Given the description of an element on the screen output the (x, y) to click on. 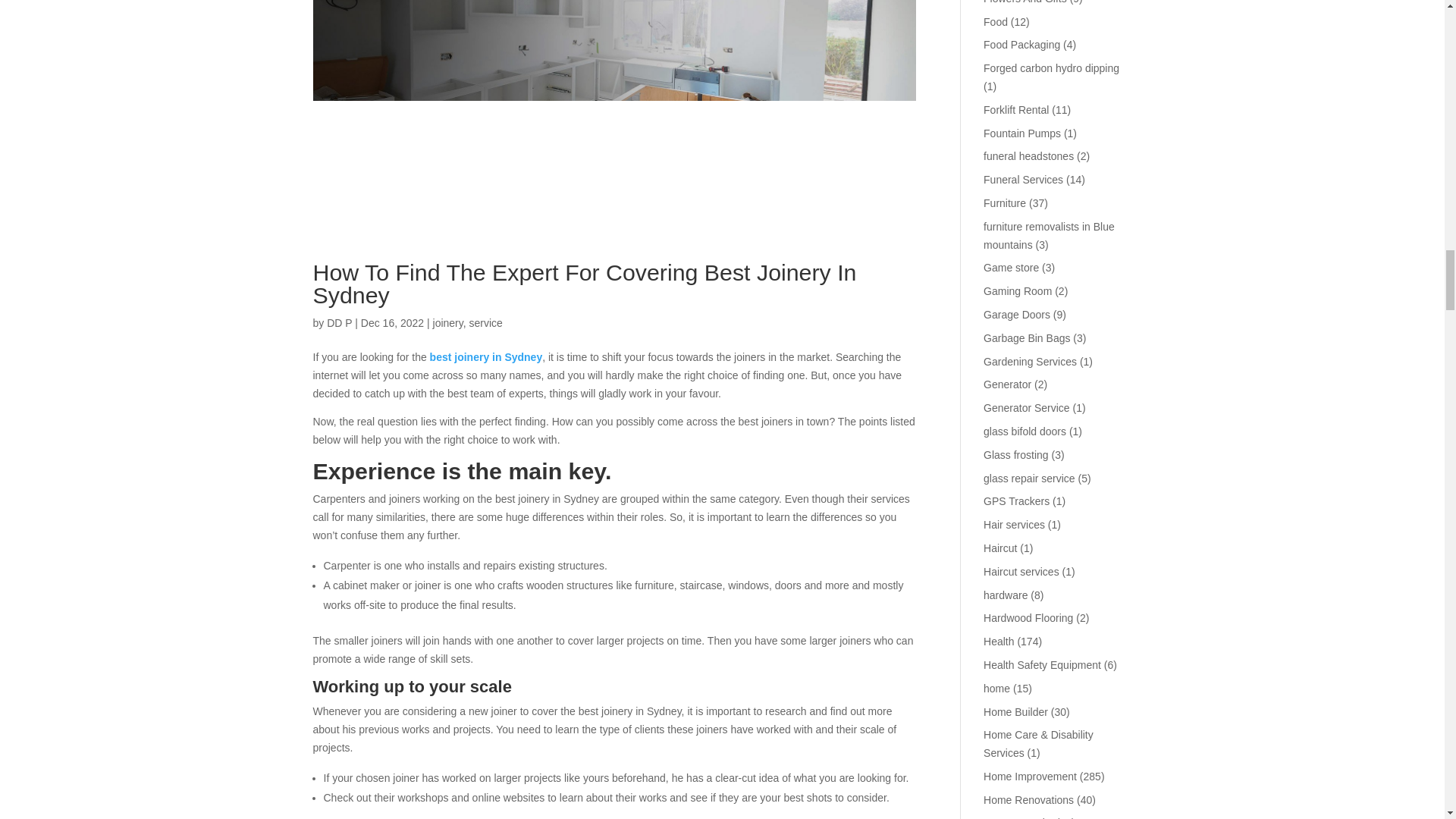
best joinery in Sydney (486, 357)
Posts by DD P (339, 322)
service (485, 322)
How To Find The Expert For Covering Best Joinery In Sydney (584, 283)
DD P (339, 322)
joinery (447, 322)
